Given the description of an element on the screen output the (x, y) to click on. 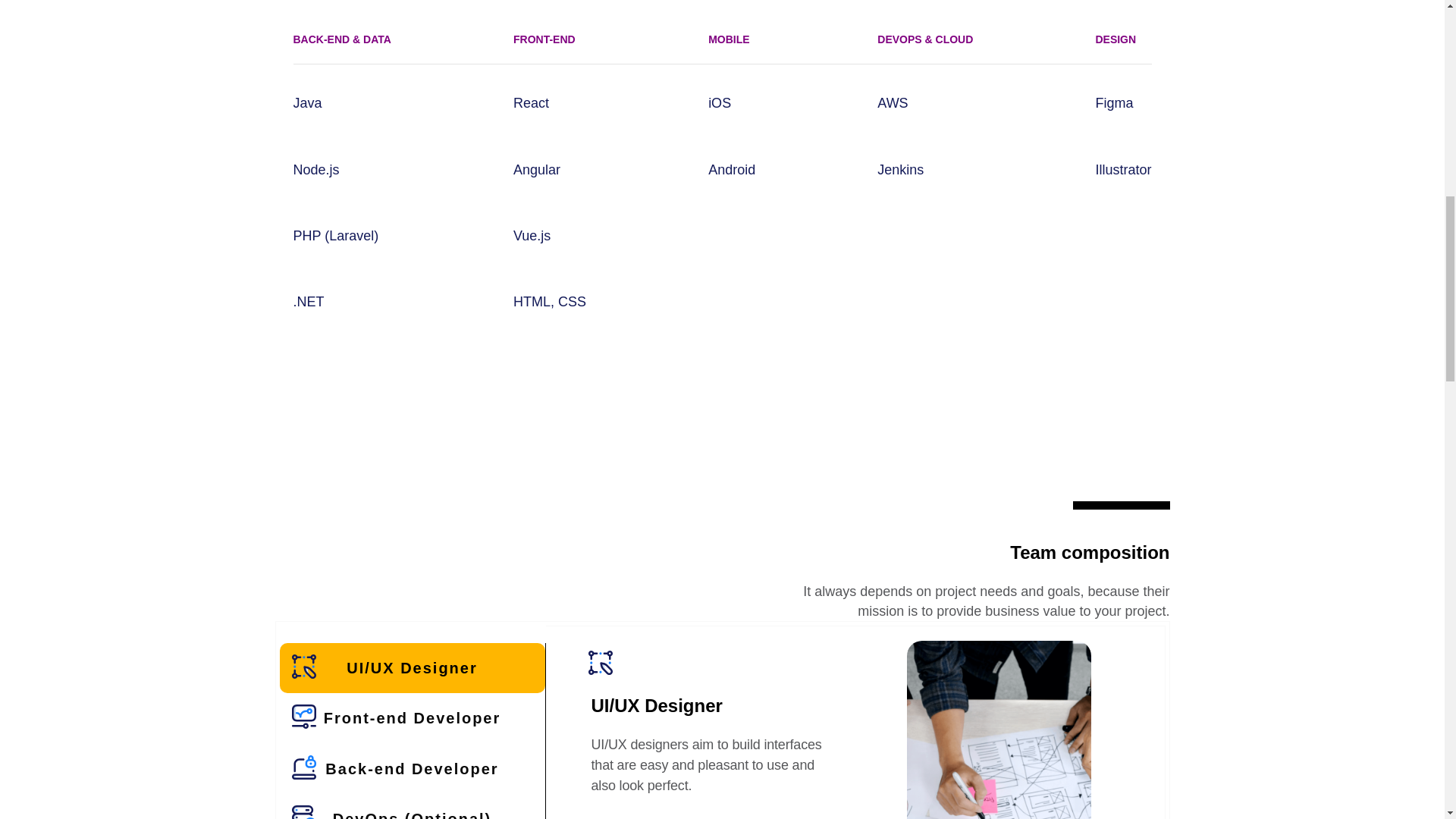
Back-end Developer (411, 768)
Front-end Developer (411, 717)
